Given the description of an element on the screen output the (x, y) to click on. 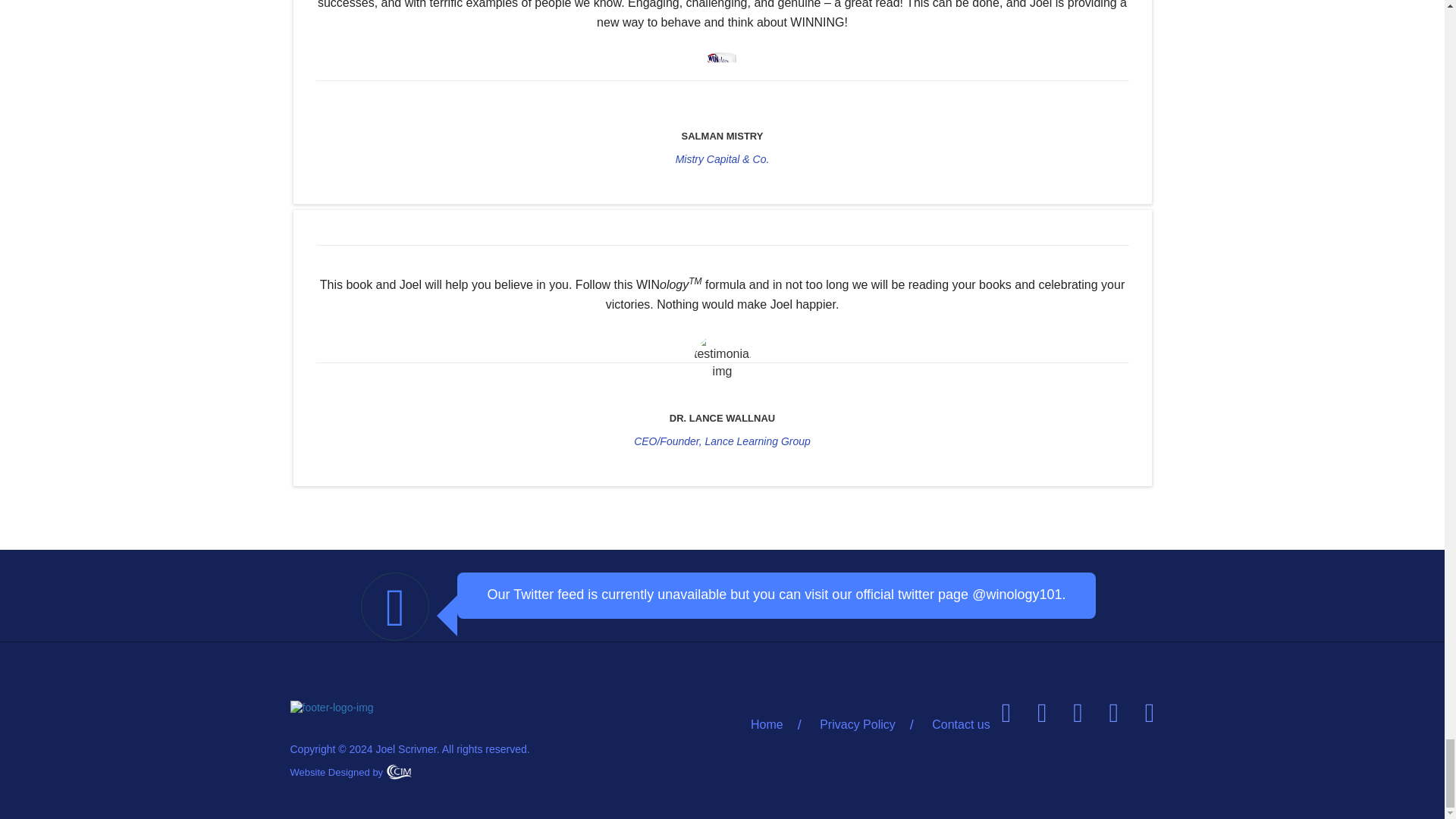
Privacy Policy (857, 724)
Contact us (952, 724)
Home (775, 724)
